Given the description of an element on the screen output the (x, y) to click on. 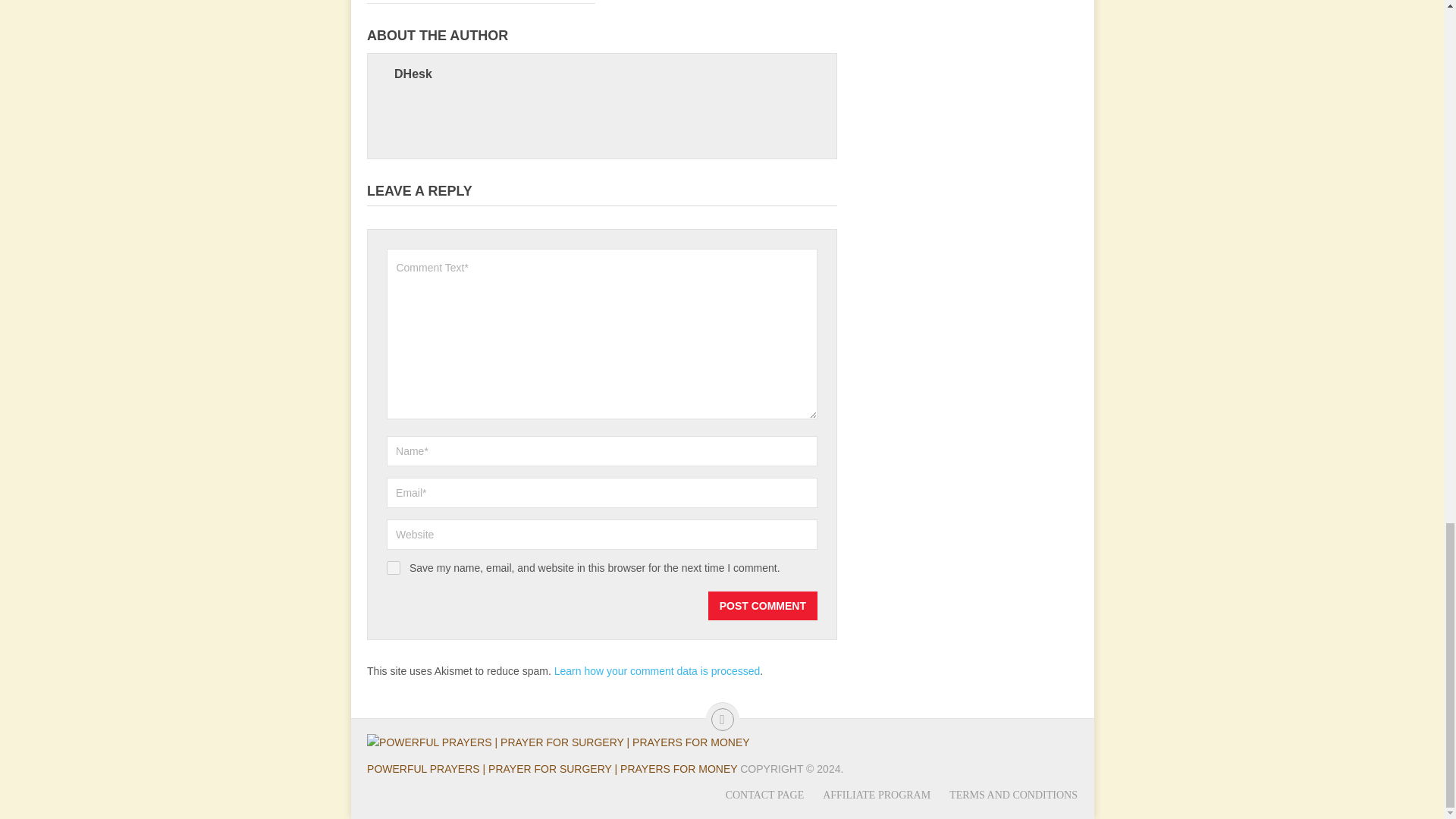
Post Comment (761, 605)
Post Comment (761, 605)
Learn how your comment data is processed (657, 671)
DHesk (413, 73)
yes (393, 567)
